Given the description of an element on the screen output the (x, y) to click on. 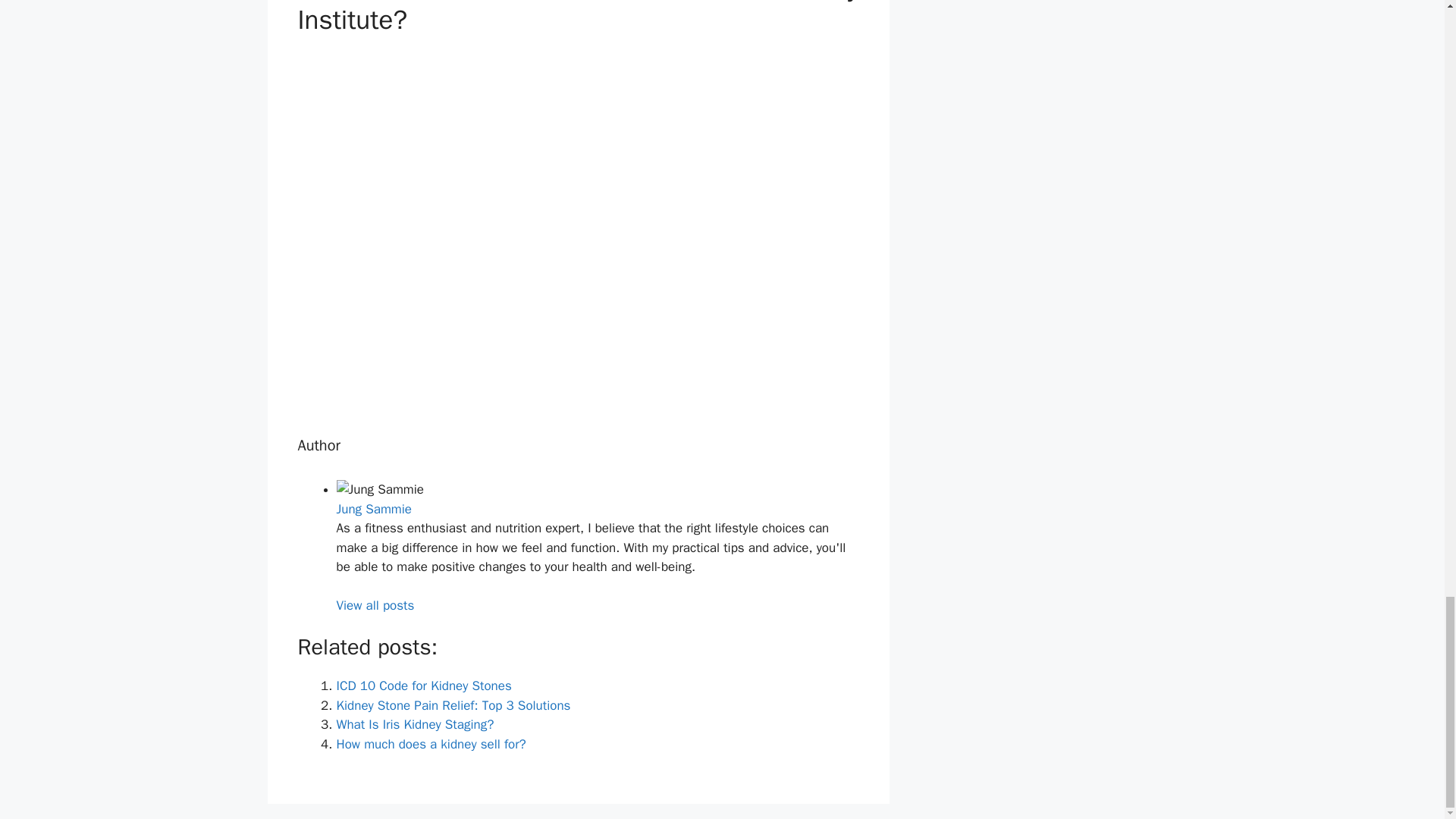
Jung Sammie (374, 508)
View all posts (375, 605)
View all posts (375, 605)
ICD 10 Code for Kidney Stones (424, 685)
What Is Iris Kidney Staging? (415, 724)
Jung Sammie (374, 508)
How much does a kidney sell for? (430, 744)
Kidney Stone Pain Relief: Top 3 Solutions (453, 705)
What Is Iris Kidney Staging? (415, 724)
How much does a kidney sell for? (430, 744)
